Given the description of an element on the screen output the (x, y) to click on. 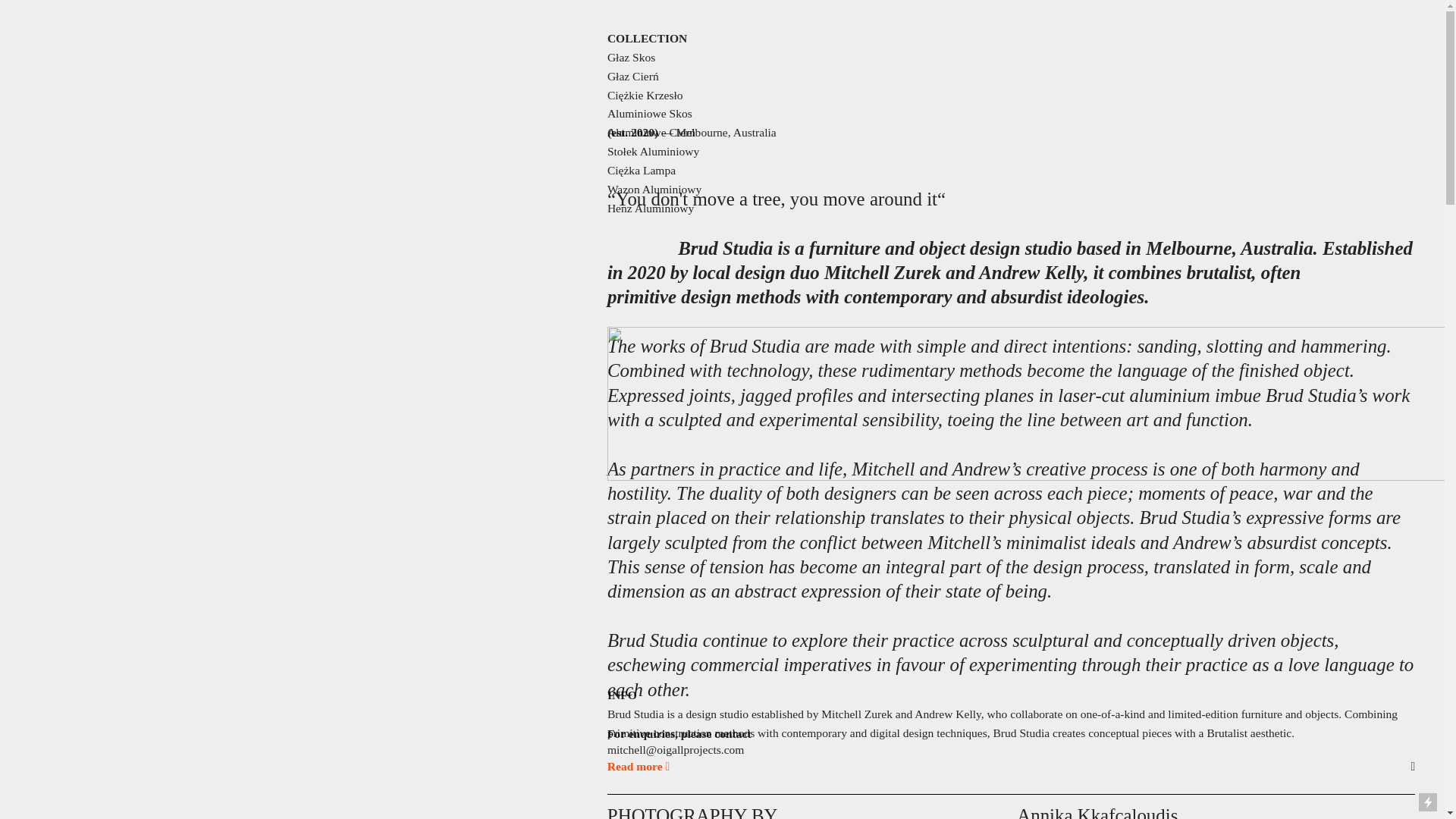
Henz Aluminiowy (650, 208)
Wazon Aluminiowy (654, 189)
Aluminiowe Skos (650, 114)
COLLECTION (647, 38)
